Given the description of an element on the screen output the (x, y) to click on. 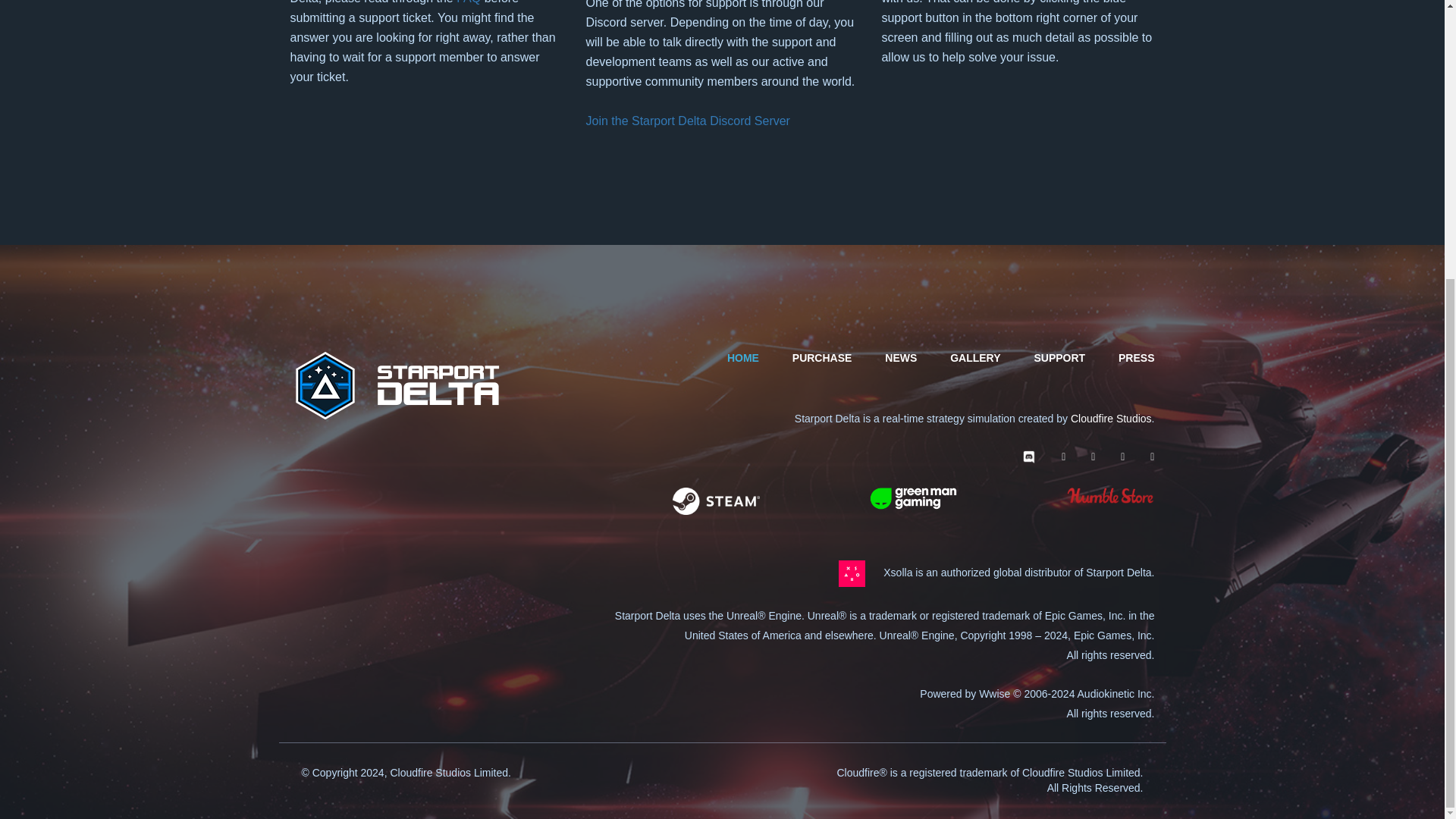
SUPPORT (1058, 357)
PRESS (1136, 357)
GALLERY (975, 357)
PURCHASE (821, 357)
Join the Starport Delta Discord Server (687, 120)
HOME (742, 357)
NEWS (901, 357)
Cloudfire Studios (1110, 418)
FAQ (468, 2)
